Given the description of an element on the screen output the (x, y) to click on. 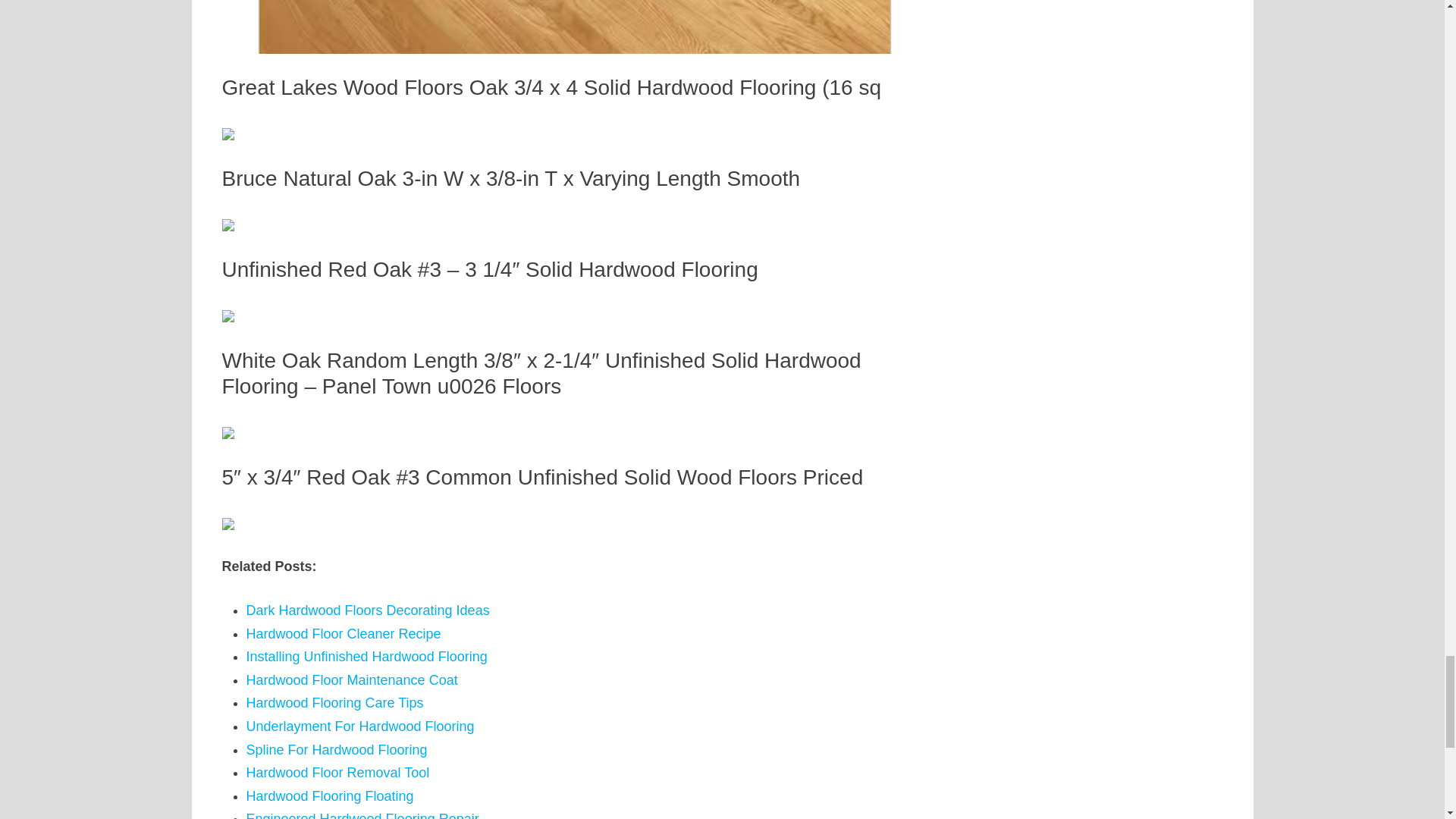
Spline For Hardwood Flooring (336, 749)
Hardwood Flooring Floating (329, 795)
Hardwood Floor Cleaner Recipe (343, 633)
Installing Unfinished Hardwood Flooring (366, 656)
Underlayment For Hardwood Flooring (360, 726)
Hardwood Floor Removal Tool (337, 772)
Hardwood Flooring Care Tips (334, 702)
Hardwood Floor Maintenance Coat (351, 679)
Engineered Hardwood Flooring Repair (362, 815)
Dark Hardwood Floors Decorating Ideas (367, 610)
